Given the description of an element on the screen output the (x, y) to click on. 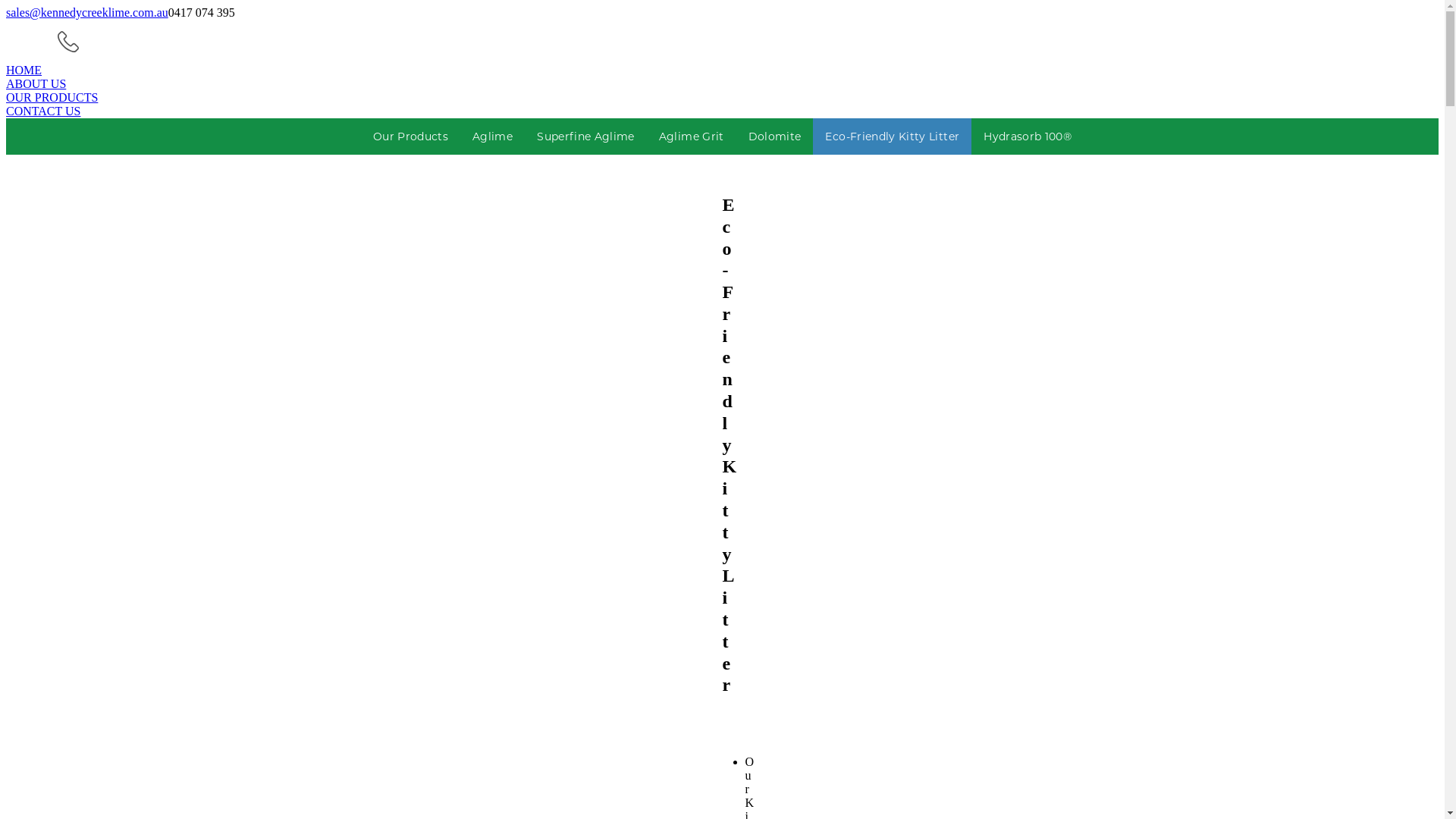
CONTACT US Element type: text (722, 111)
Eco-Friendly Kitty Litter Element type: text (891, 136)
ABOUT US Element type: text (722, 84)
Our Products Element type: text (410, 136)
Aglime Grit Element type: text (691, 136)
Dolomite Element type: text (774, 136)
OUR PRODUCTS Element type: text (722, 97)
Superfine Aglime Element type: text (585, 136)
Aglime Element type: text (492, 136)
HOME Element type: text (722, 70)
sales@kennedycreeklime.com.au Element type: text (87, 12)
